Given the description of an element on the screen output the (x, y) to click on. 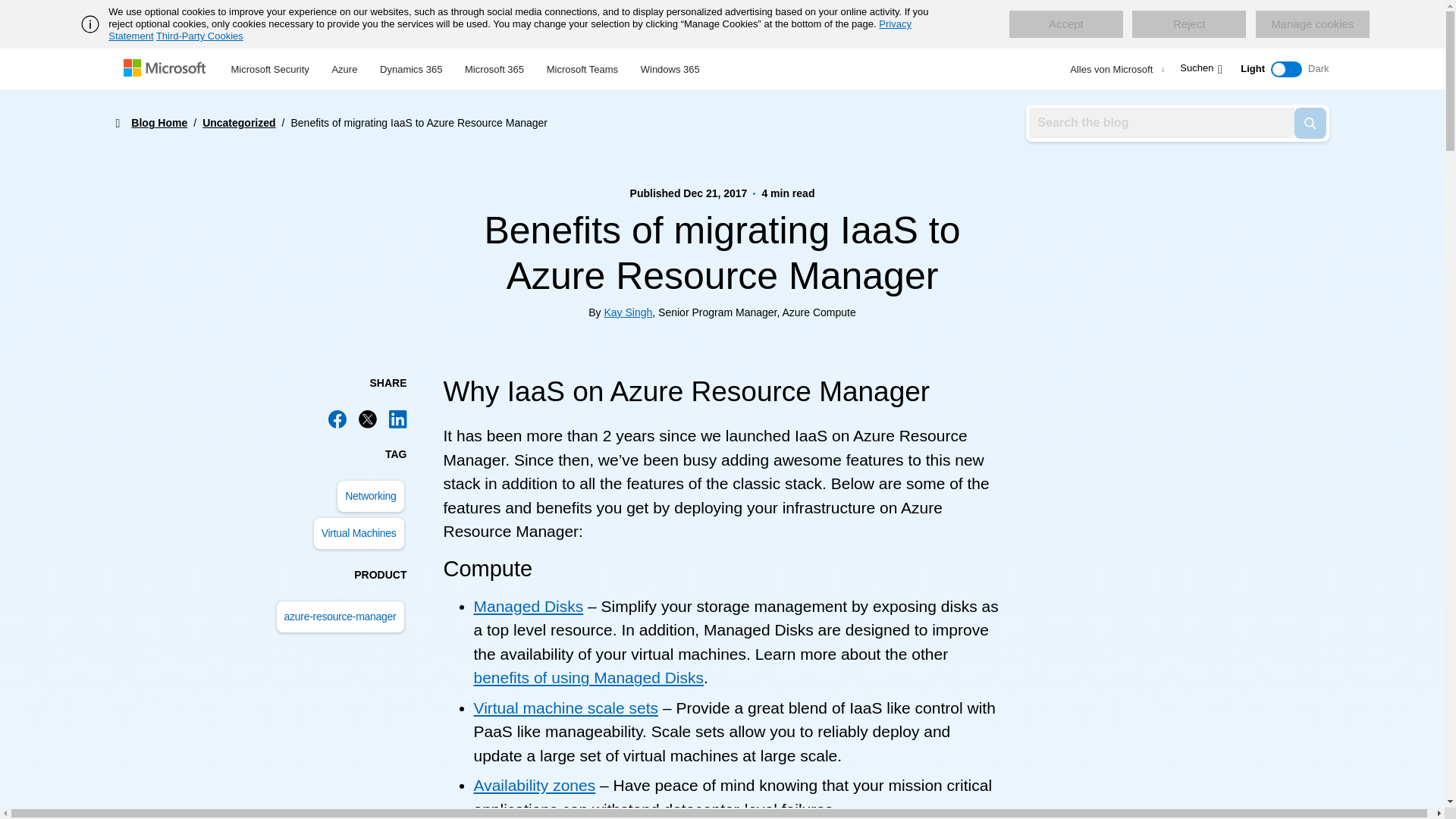
Microsoft Teams (582, 67)
Manage cookies (1312, 23)
Third-Party Cookies (199, 35)
Microsoft 365 (494, 67)
Microsoft Security (269, 67)
Dynamics 365 (410, 67)
Microsoft (167, 69)
Privacy Statement (509, 29)
Windows 365 (669, 67)
Alles von Microsoft (1115, 69)
Accept (1065, 23)
Reject (1189, 23)
Azure (344, 67)
